Given the description of an element on the screen output the (x, y) to click on. 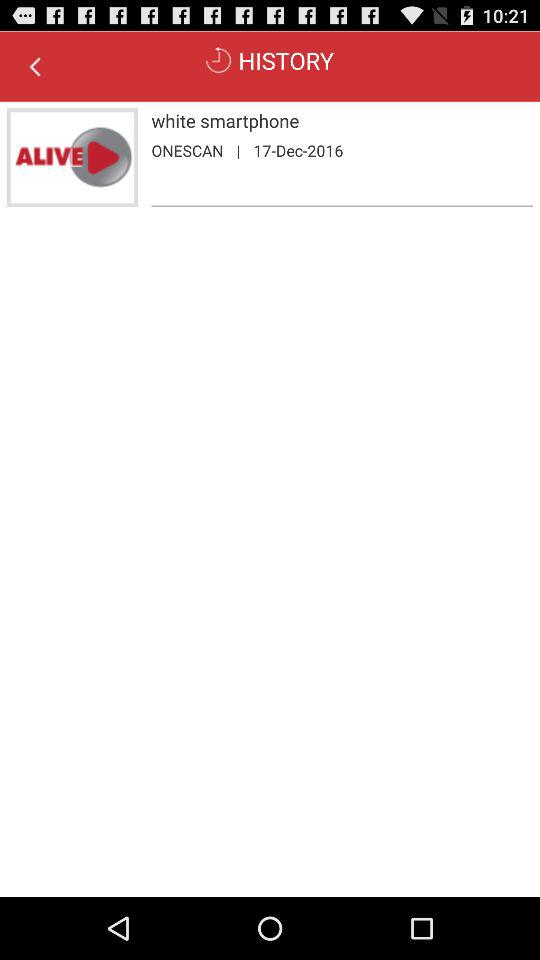
click app below the white smartphone icon (298, 150)
